Given the description of an element on the screen output the (x, y) to click on. 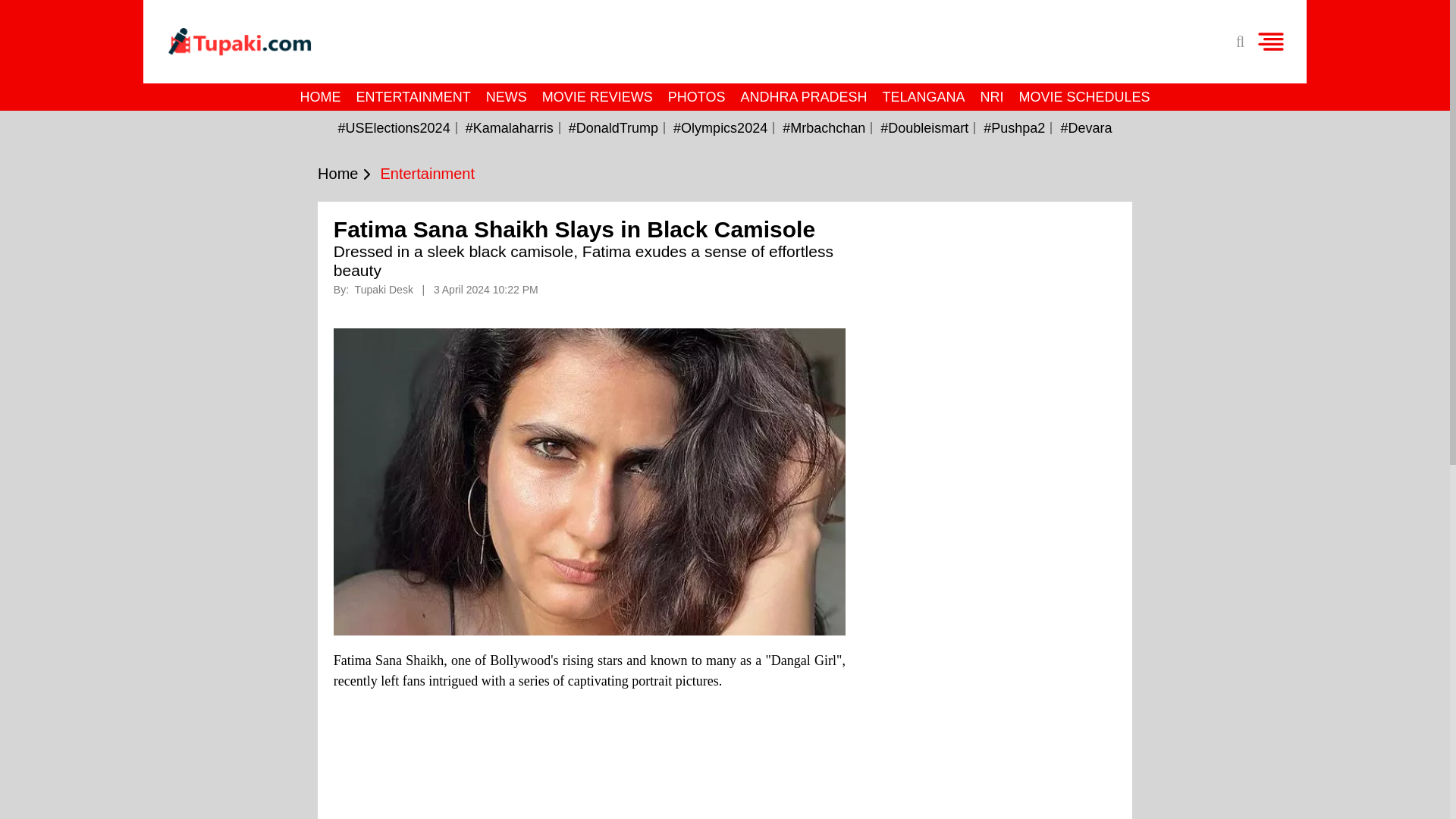
MOVIE REVIEWS (597, 96)
ANDHRA PRADESH (803, 96)
ENTERTAINMENT (412, 96)
MOVIE SCHEDULES (1084, 96)
HOME (319, 96)
PHOTOS (697, 96)
Tupaki Desk (385, 289)
Entertainment (427, 173)
TELANGANA (923, 96)
